Given the description of an element on the screen output the (x, y) to click on. 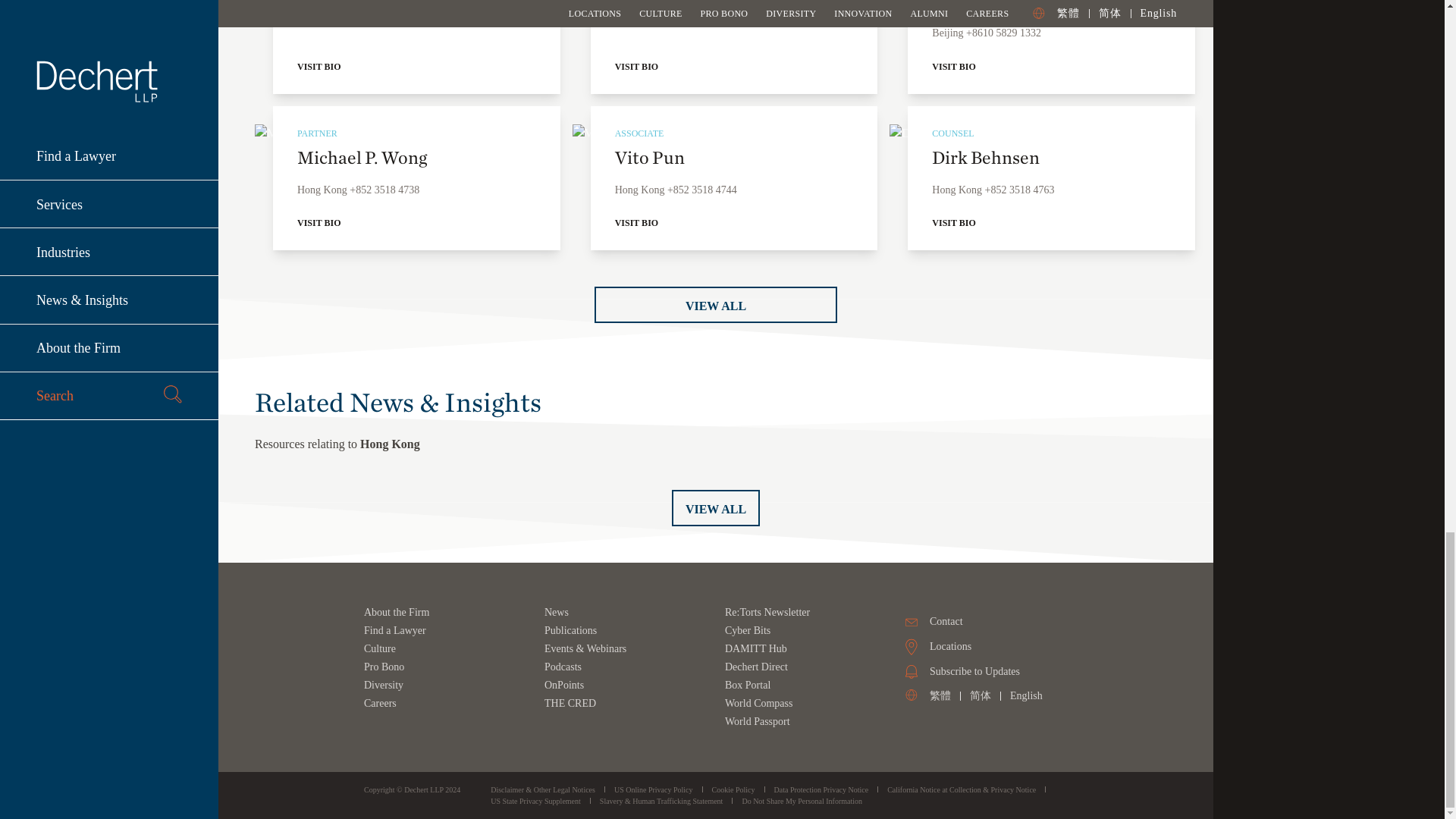
Vito Pun (716, 133)
Simplified Chinese (980, 695)
Traditional Chinese (940, 695)
Michael P. Wong (397, 133)
Dirk Behnsen (1032, 133)
